Given the description of an element on the screen output the (x, y) to click on. 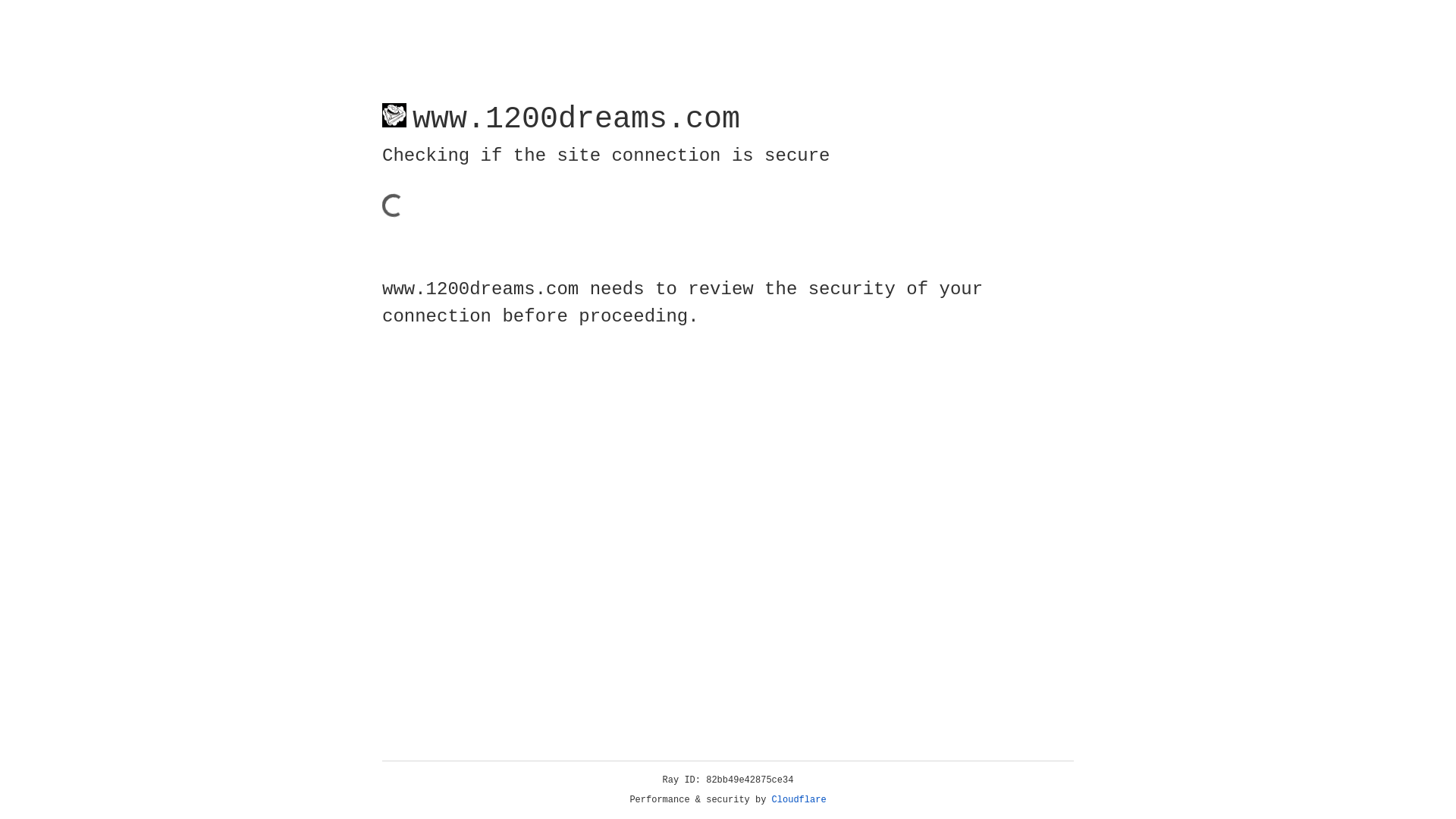
Cloudflare Element type: text (798, 799)
